Given the description of an element on the screen output the (x, y) to click on. 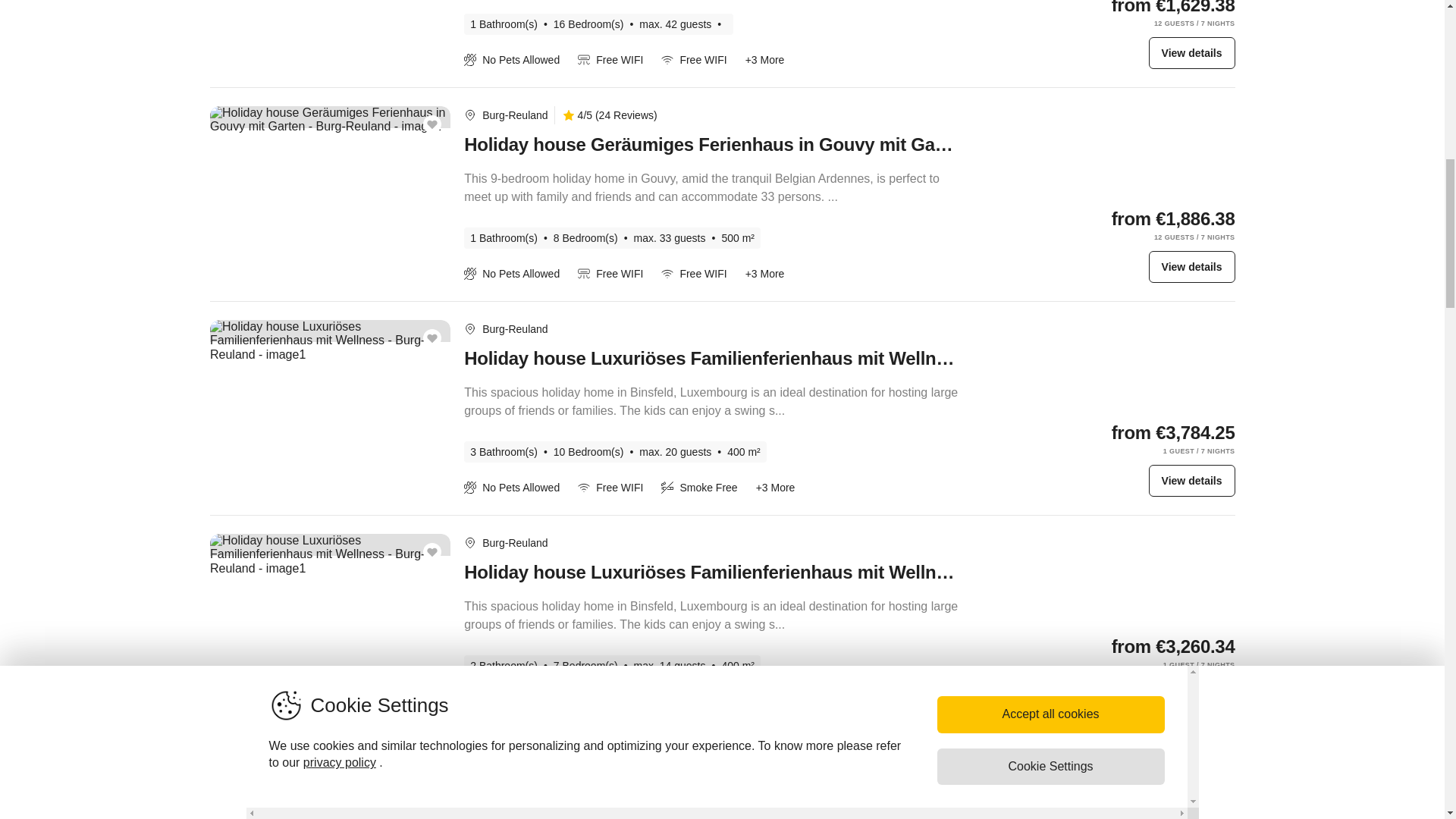
Burg-Reuland (514, 756)
Burg-Reuland (514, 542)
Burg-Reuland (514, 328)
Burg-Reuland (514, 114)
Burg-Reuland (514, 542)
View details (1191, 52)
Burg-Reuland (514, 114)
View details (1191, 480)
View details (1191, 694)
Burg-Reuland (514, 328)
